Given the description of an element on the screen output the (x, y) to click on. 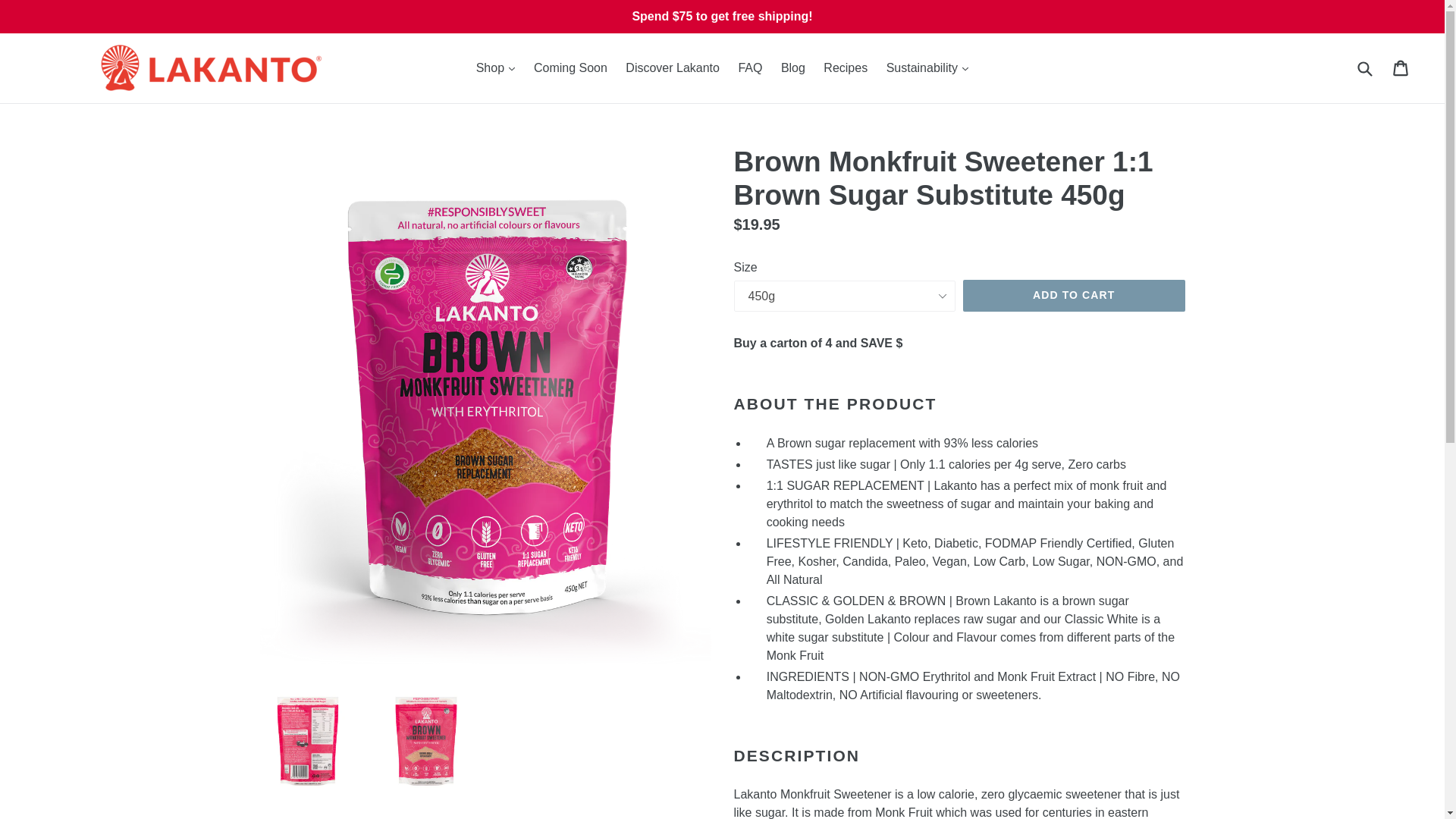
Recipes (845, 67)
Discover Lakanto (671, 67)
FAQ (750, 67)
Coming Soon (569, 67)
Blog (792, 67)
